Given the description of an element on the screen output the (x, y) to click on. 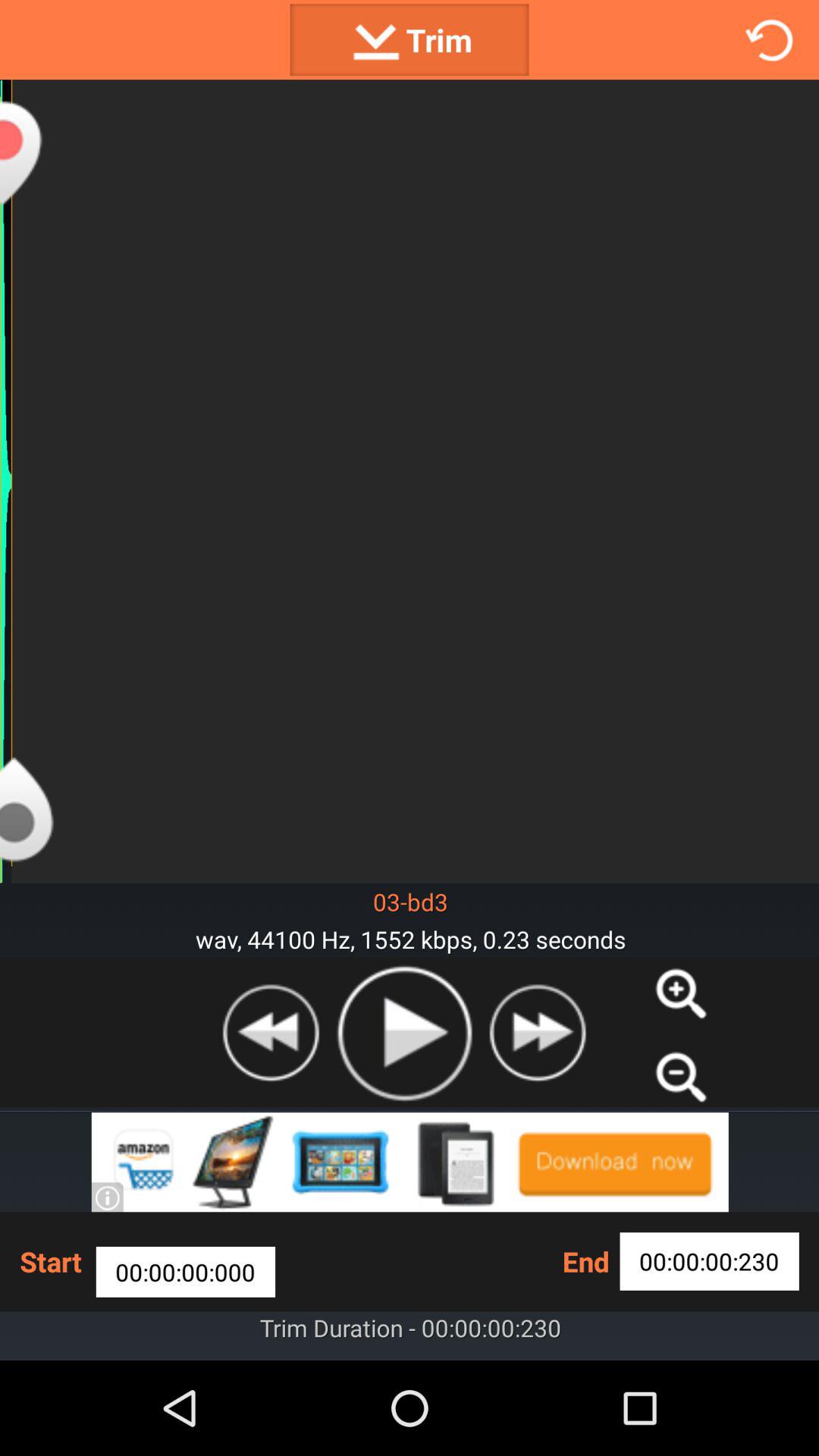
zoom in (680, 993)
